Given the description of an element on the screen output the (x, y) to click on. 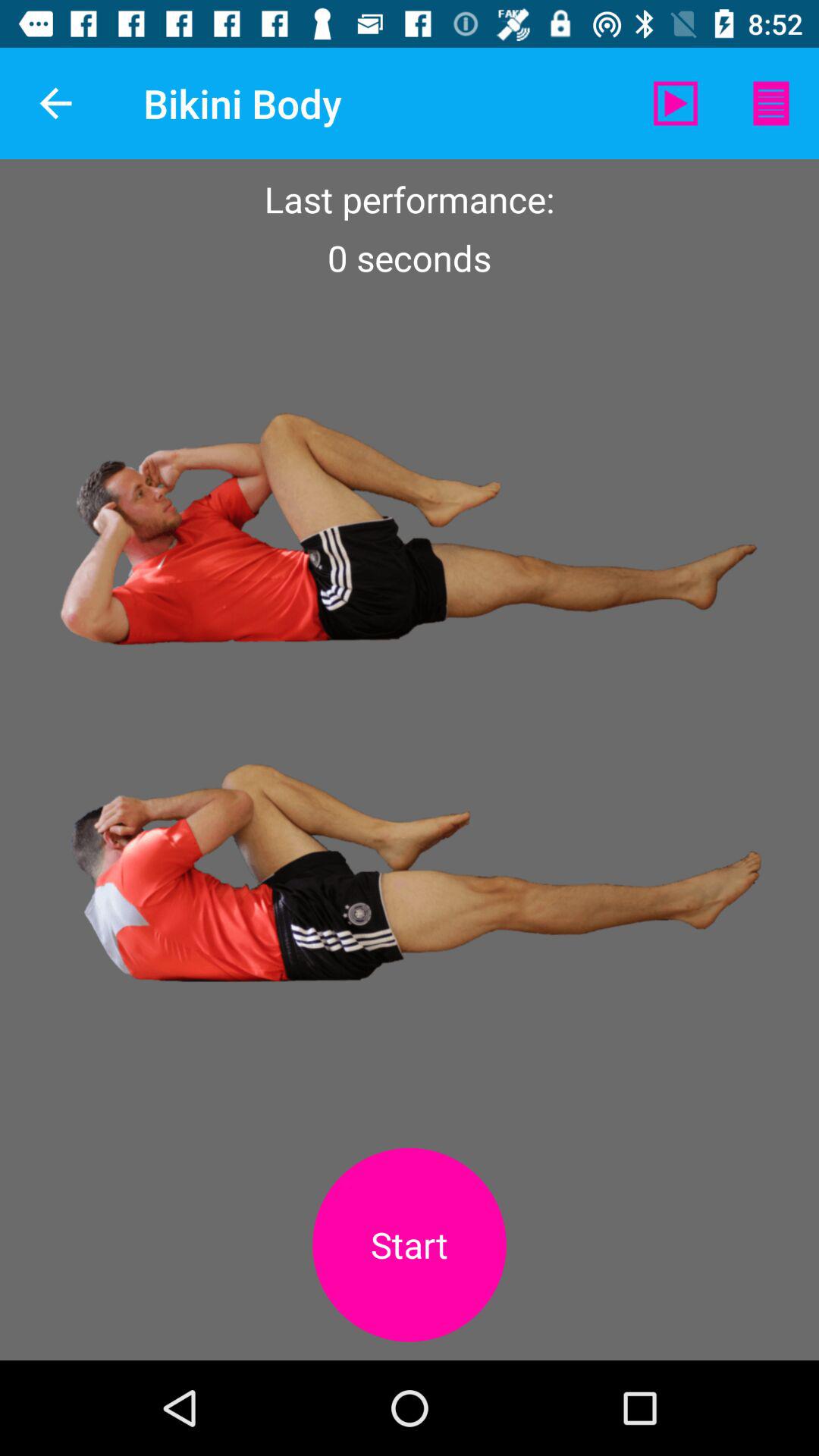
start workout (409, 1244)
